Given the description of an element on the screen output the (x, y) to click on. 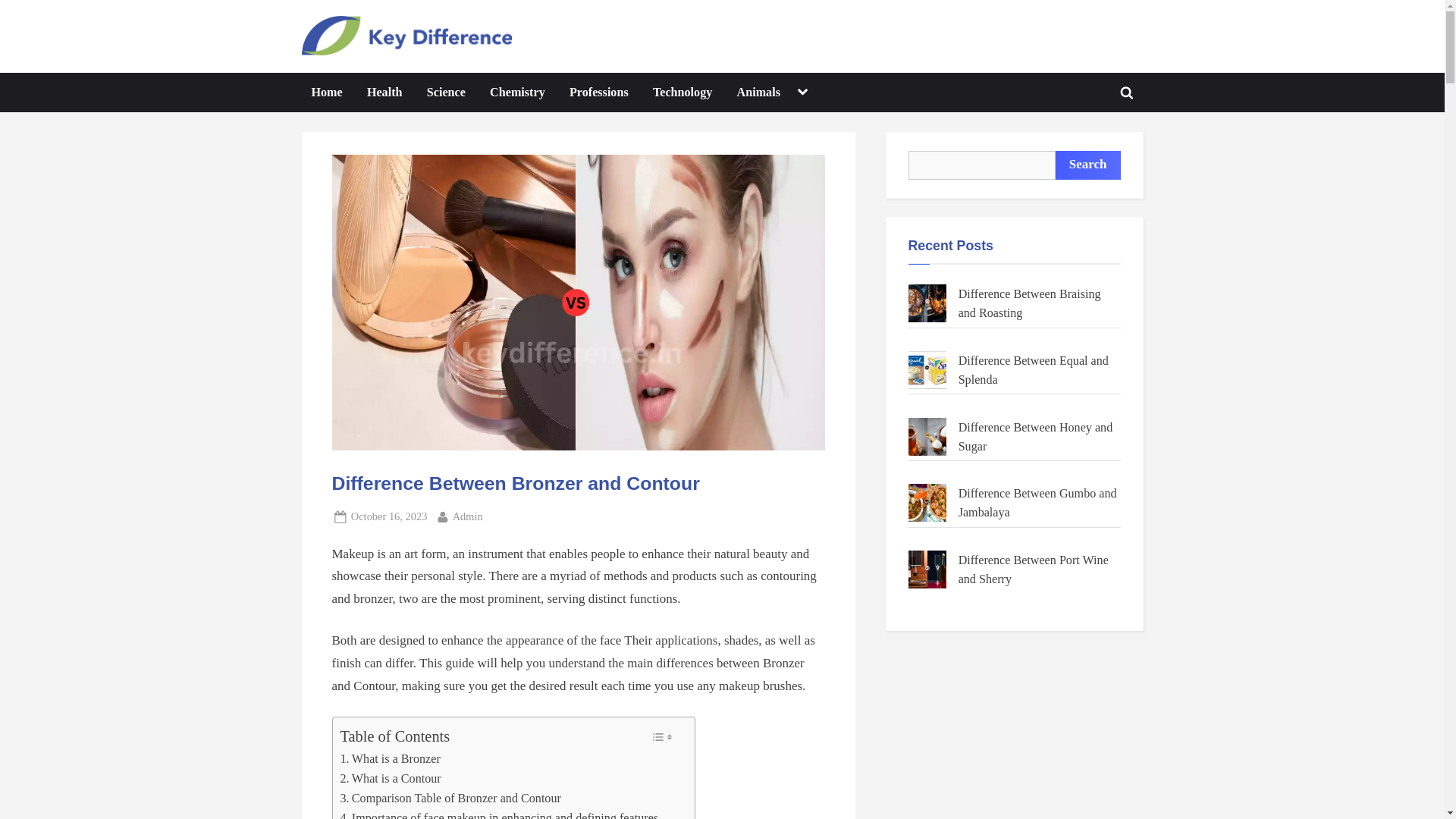
Science (446, 92)
Chemistry (517, 92)
What is a Bronzer (389, 759)
Comparison Table of Bronzer and Contour (449, 798)
Animals (758, 92)
Importance of face makeup in enhancing and defining features (498, 813)
Health (467, 516)
Toggle sub-menu (384, 92)
What is a Contour (802, 92)
What is a Bronzer (390, 778)
Professions (389, 759)
Toggle search form (599, 92)
Home (1126, 92)
Comparison Table of Bronzer and Contour (326, 92)
